Given the description of an element on the screen output the (x, y) to click on. 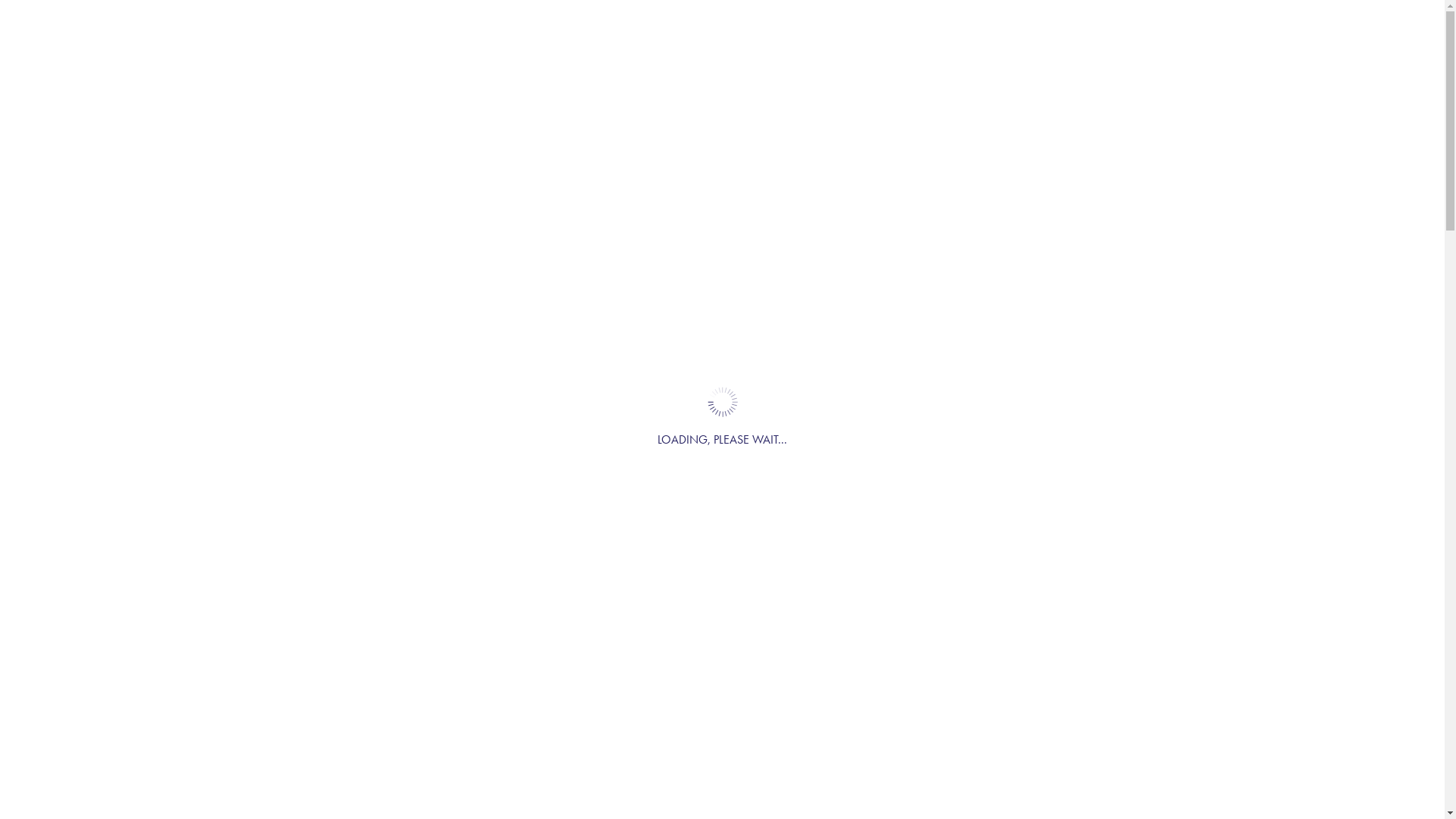
TERRACES Element type: text (697, 83)
Return to the home page Element type: hover (286, 80)
Enlarge Image Element type: hover (721, 527)
ENQUIRE NOW Element type: text (1175, 83)
1300 808 009 Element type: text (687, 14)
SOHOS Element type: text (809, 83)
APARTMENTS Element type: text (933, 83)
LIFESTYLE Element type: text (578, 83)
TEAM Element type: text (1049, 83)
LOCATION Element type: text (458, 83)
